Given the description of an element on the screen output the (x, y) to click on. 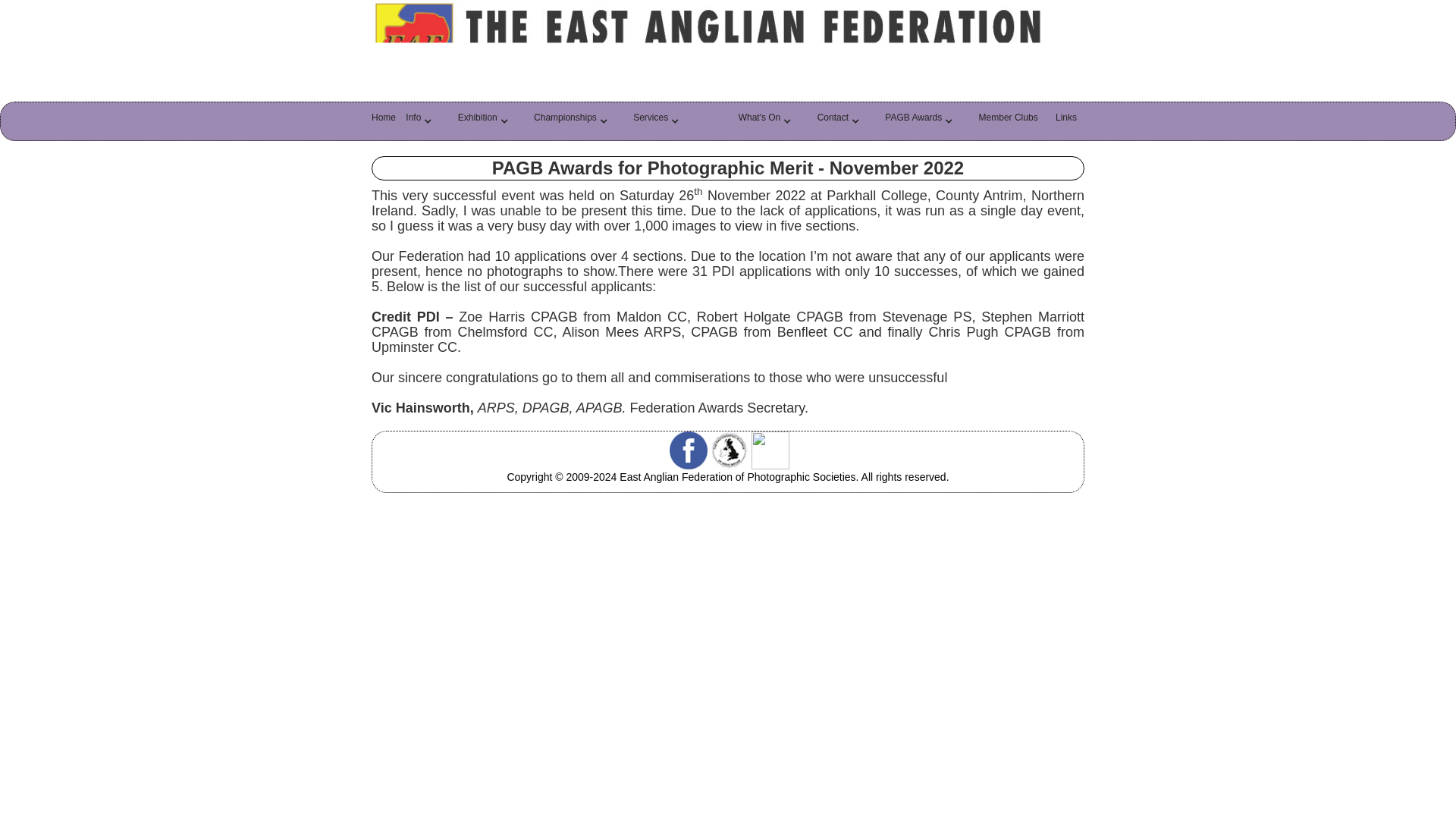
Home (383, 121)
Member Clubs (1011, 121)
Links (1069, 121)
